Given the description of an element on the screen output the (x, y) to click on. 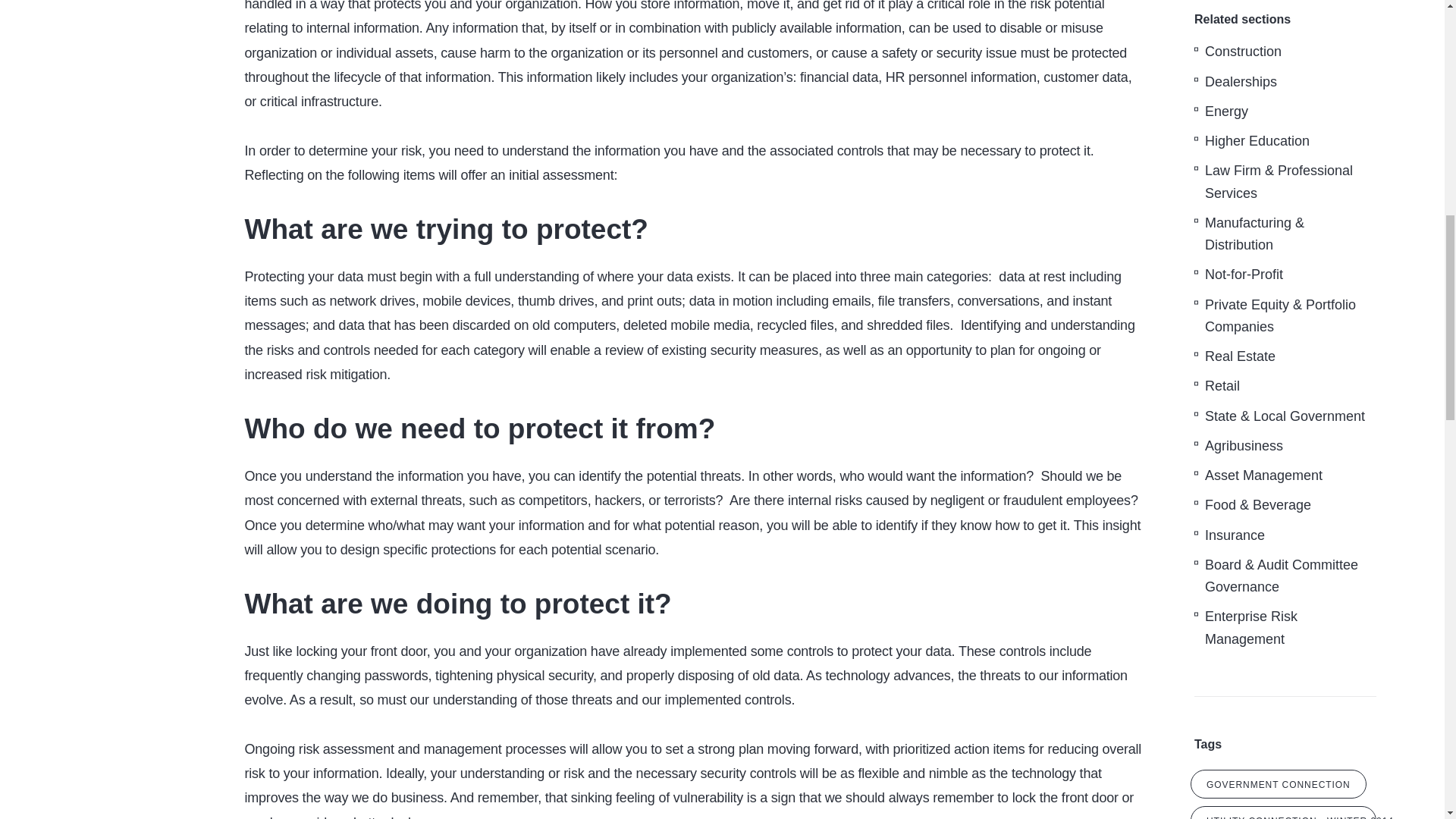
Dealerships (1240, 81)
Not-for-Profit (1243, 274)
Retail (1222, 386)
Enterprise Risk Management (1251, 627)
Higher Education (1256, 141)
GOVERNMENT CONNECTION (1279, 783)
Agribusiness (1243, 445)
Asset Management (1263, 475)
Real Estate (1240, 356)
Construction (1243, 51)
Insurance (1235, 535)
UTILITY CONNECTION - WINTER 2014 (1283, 812)
Energy (1226, 111)
